Given the description of an element on the screen output the (x, y) to click on. 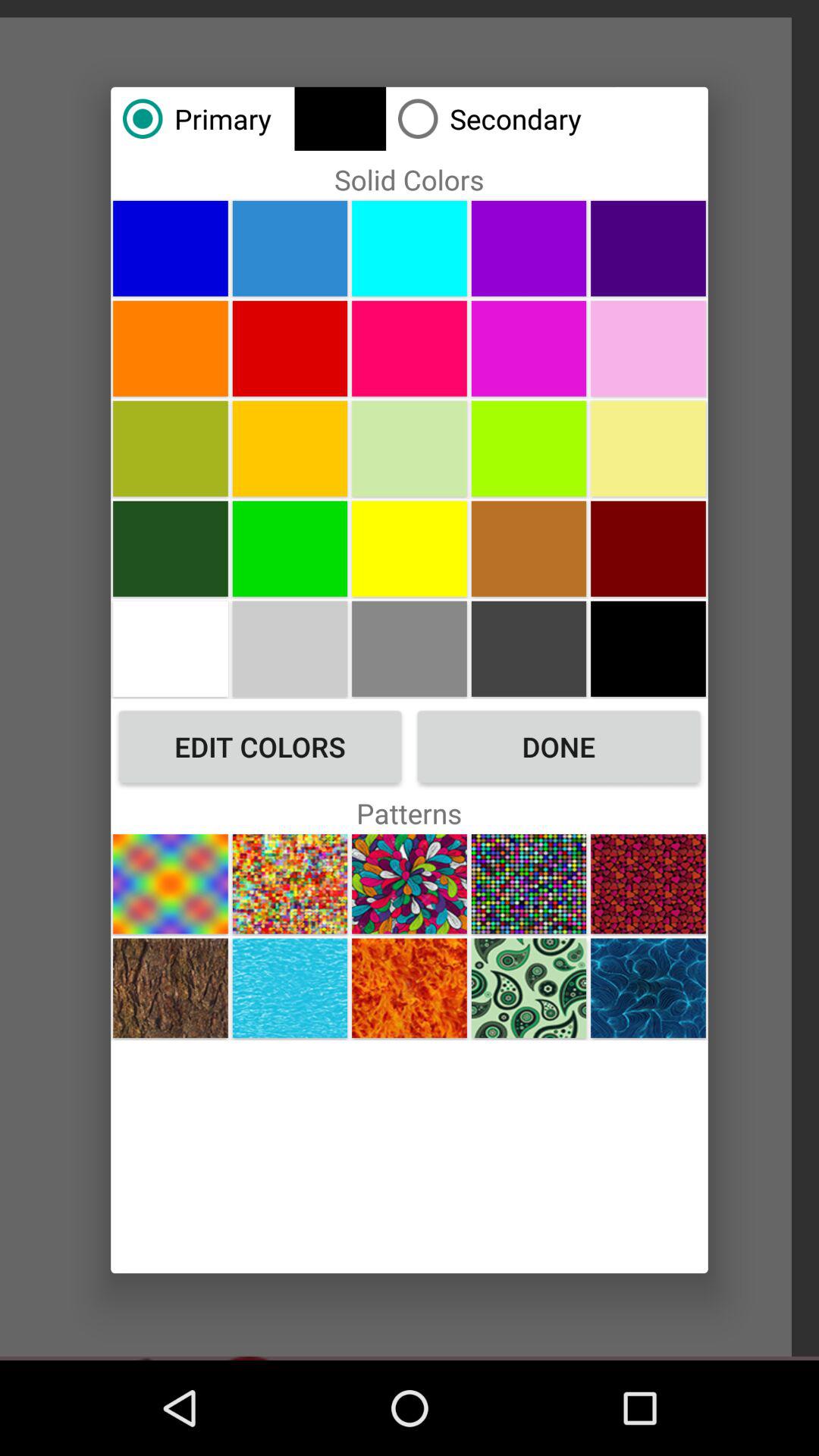
choose color (528, 348)
